Given the description of an element on the screen output the (x, y) to click on. 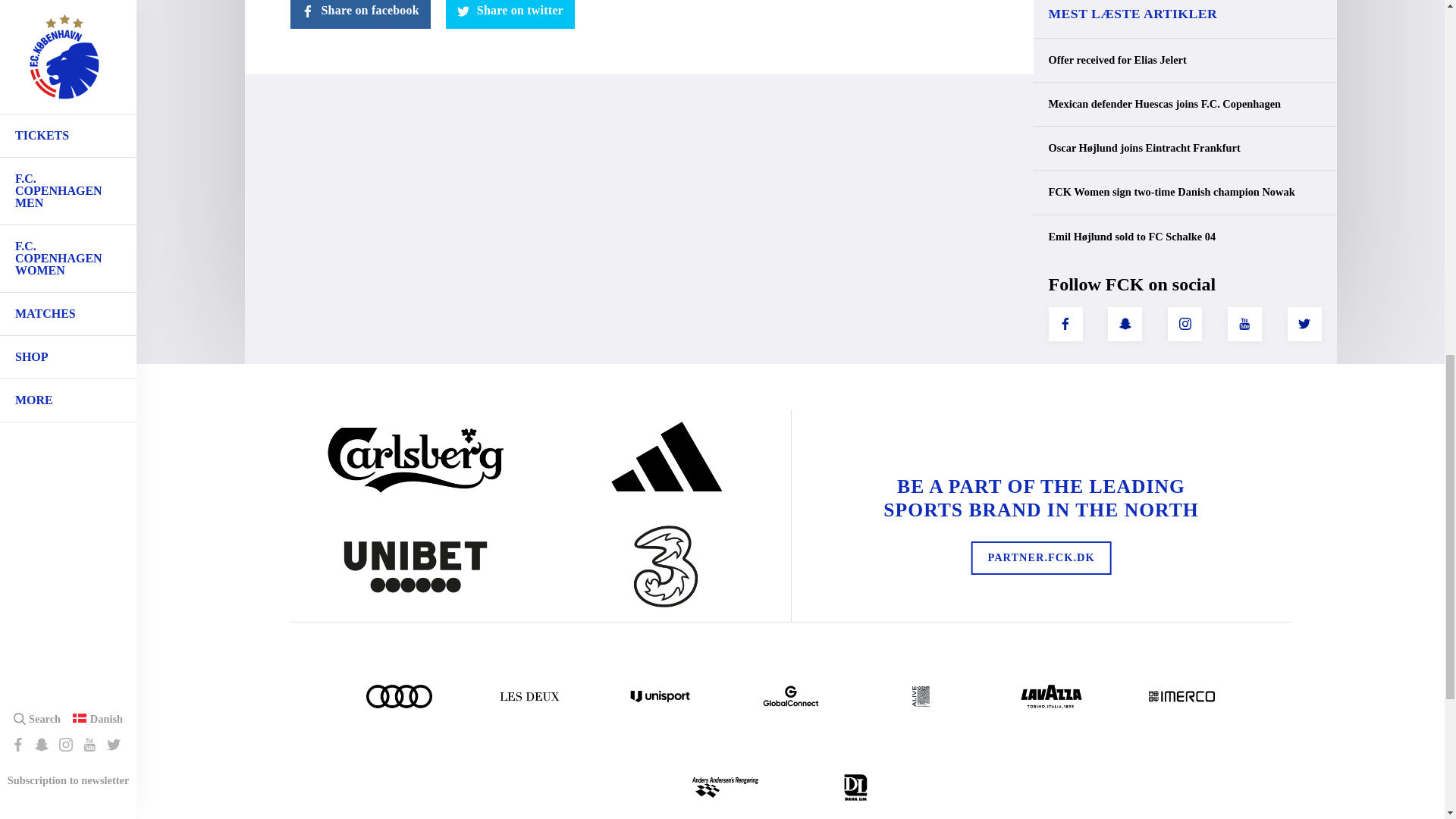
Share on facebook (359, 14)
Share on twitter (510, 14)
